Given the description of an element on the screen output the (x, y) to click on. 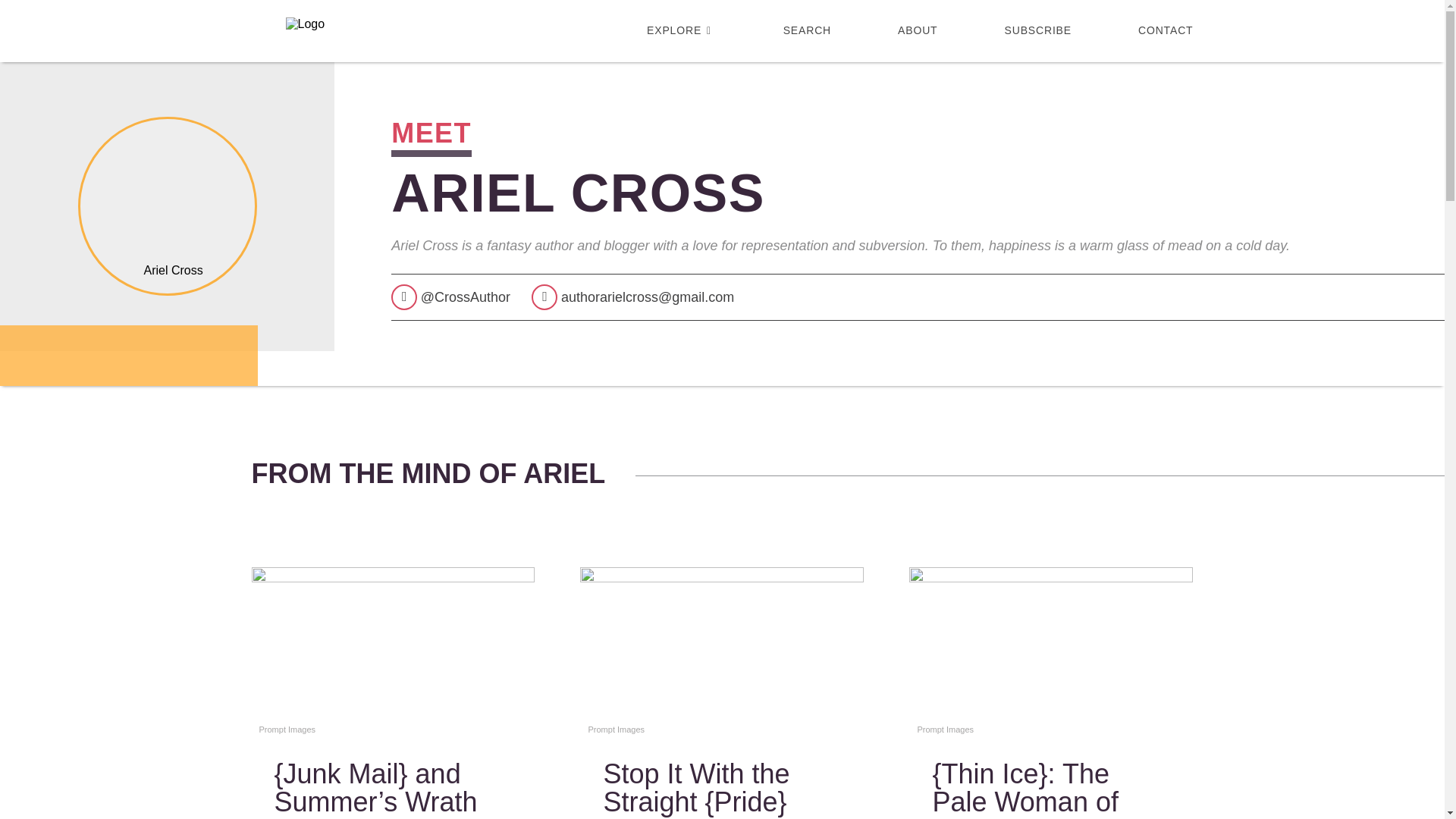
ABOUT (917, 30)
SUBSCRIBE (1037, 30)
EXPLORE (680, 30)
SEARCH (806, 30)
CONTACT (1149, 30)
